Given the description of an element on the screen output the (x, y) to click on. 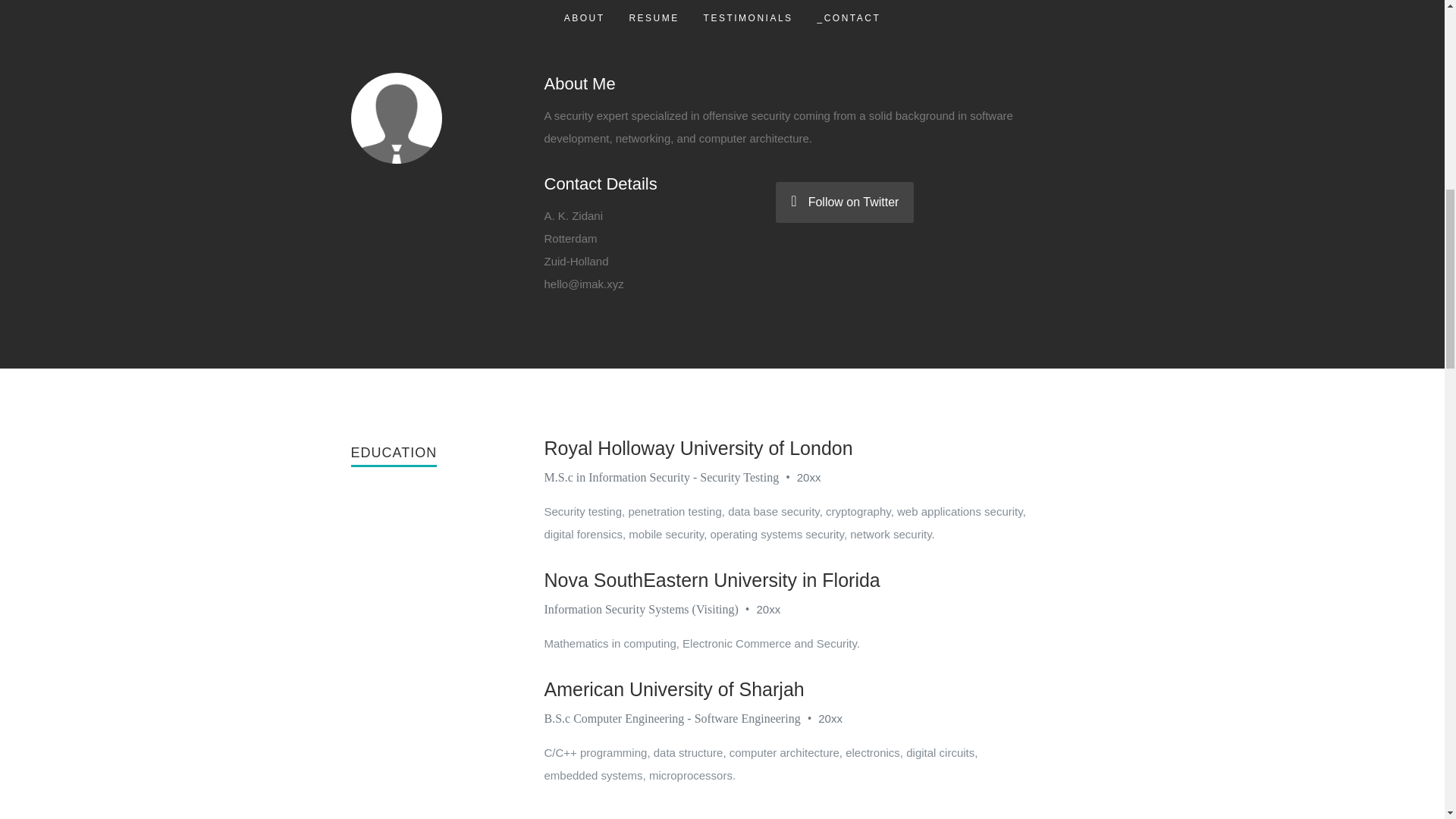
Follow on Twitter (845, 201)
